Given the description of an element on the screen output the (x, y) to click on. 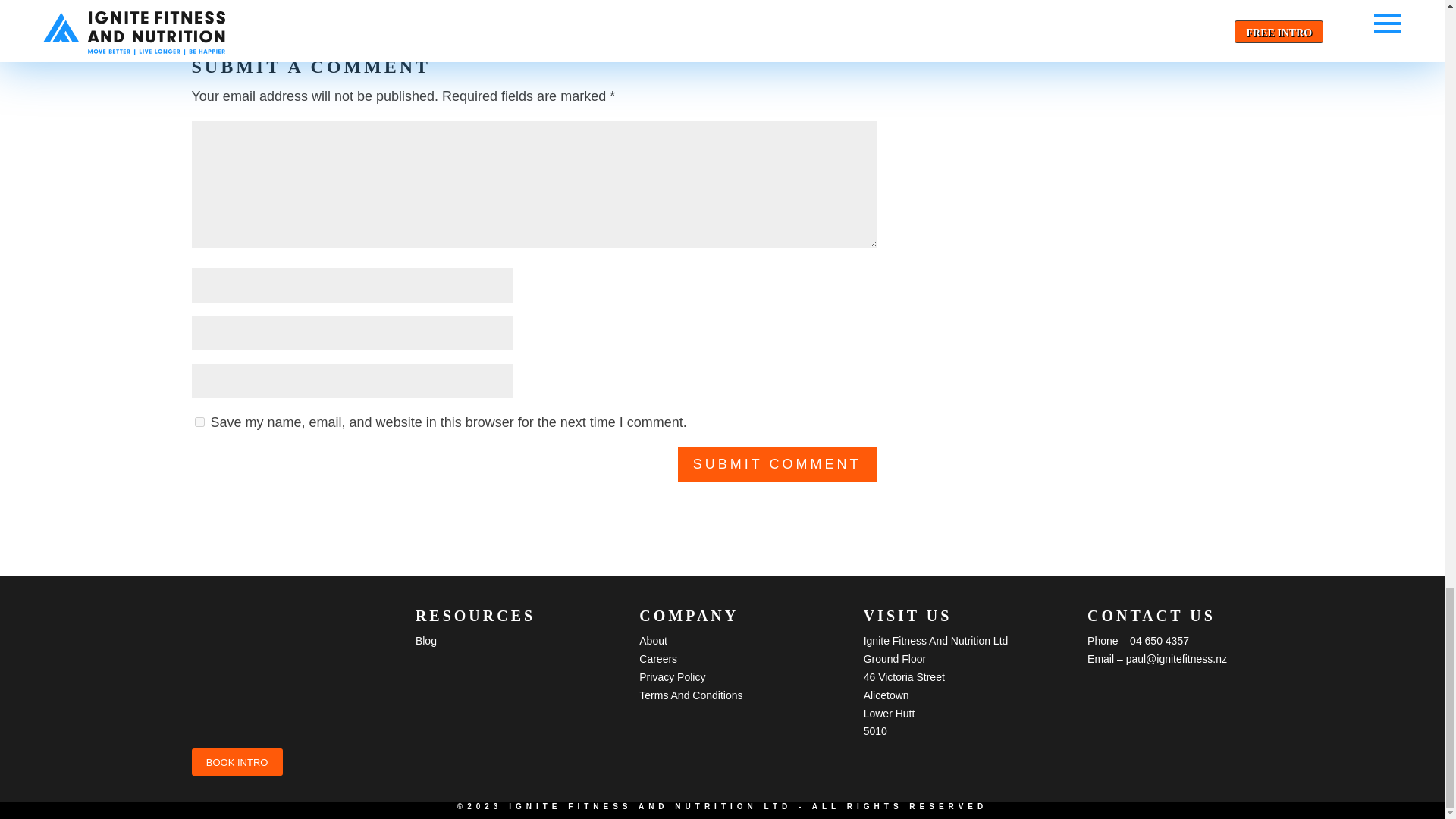
Blog (425, 640)
yes (198, 421)
Privacy Policy (671, 676)
Submit Comment (777, 464)
Submit Comment (777, 464)
BOOK INTRO (236, 761)
